Given the description of an element on the screen output the (x, y) to click on. 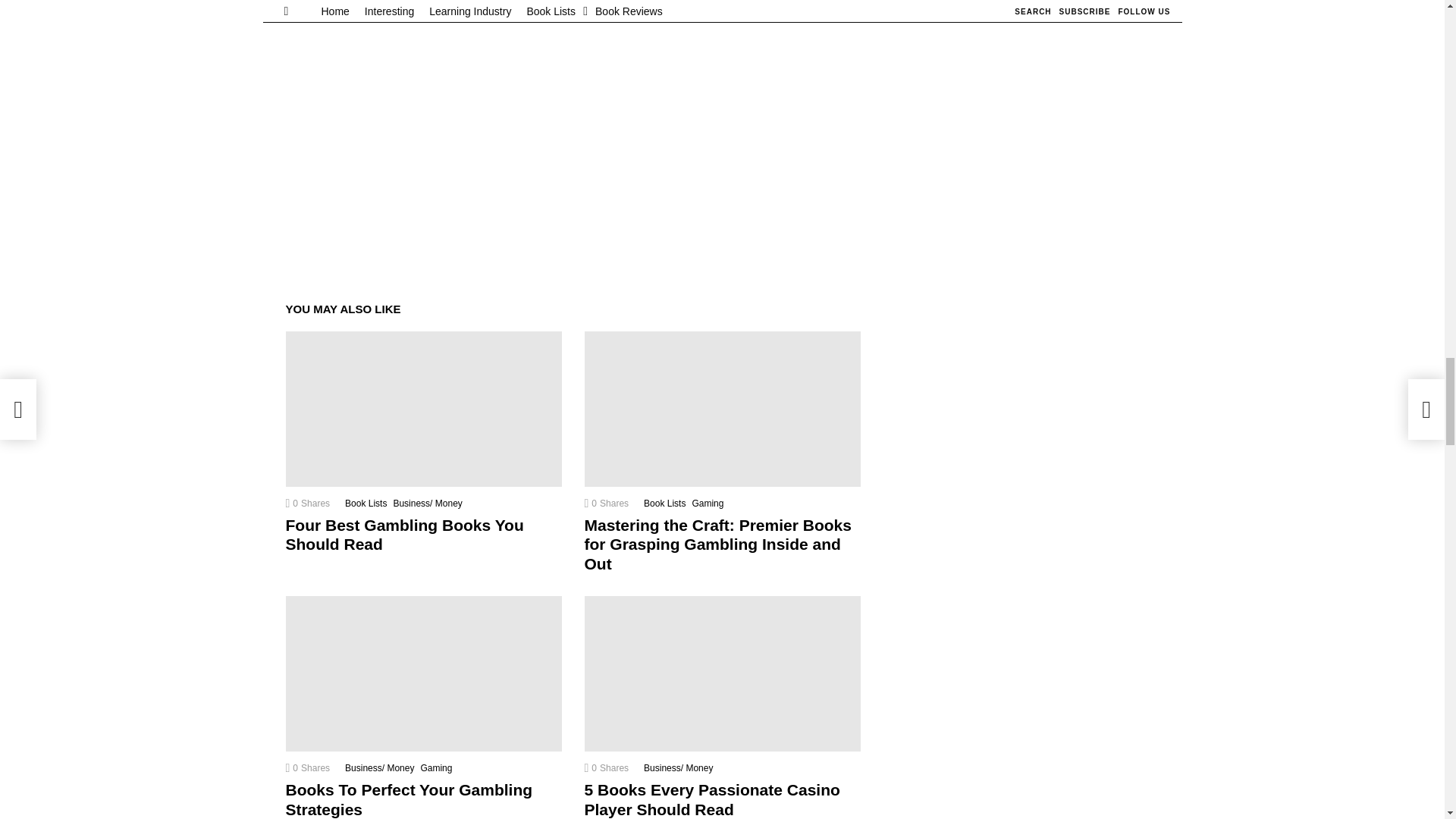
Four Best Gambling Books You Should Read (422, 408)
Books To Perfect Your Gambling Strategies (422, 673)
Book Lists (369, 503)
5 Books Every Passionate Casino Player Should Read (721, 673)
